Given the description of an element on the screen output the (x, y) to click on. 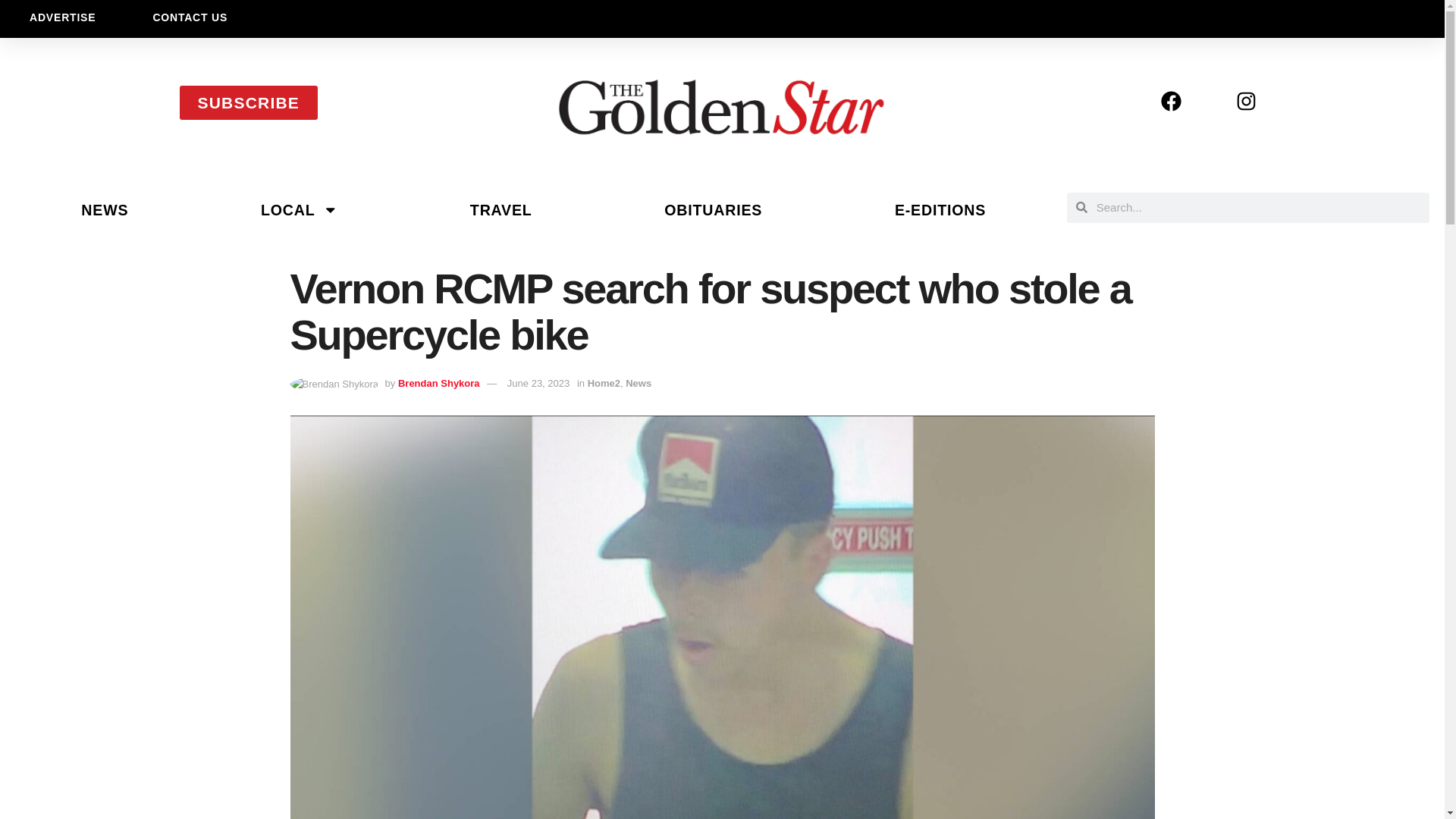
NEWS (104, 209)
SUBSCRIBE (248, 102)
Brendan Shykora (438, 383)
News (638, 383)
OBITUARIES (713, 209)
LOCAL (299, 209)
Home2 (604, 383)
ADVERTISE (62, 17)
TRAVEL (499, 209)
June 23, 2023 (537, 383)
E-EDITIONS (940, 209)
CONTACT US (189, 17)
